Given the description of an element on the screen output the (x, y) to click on. 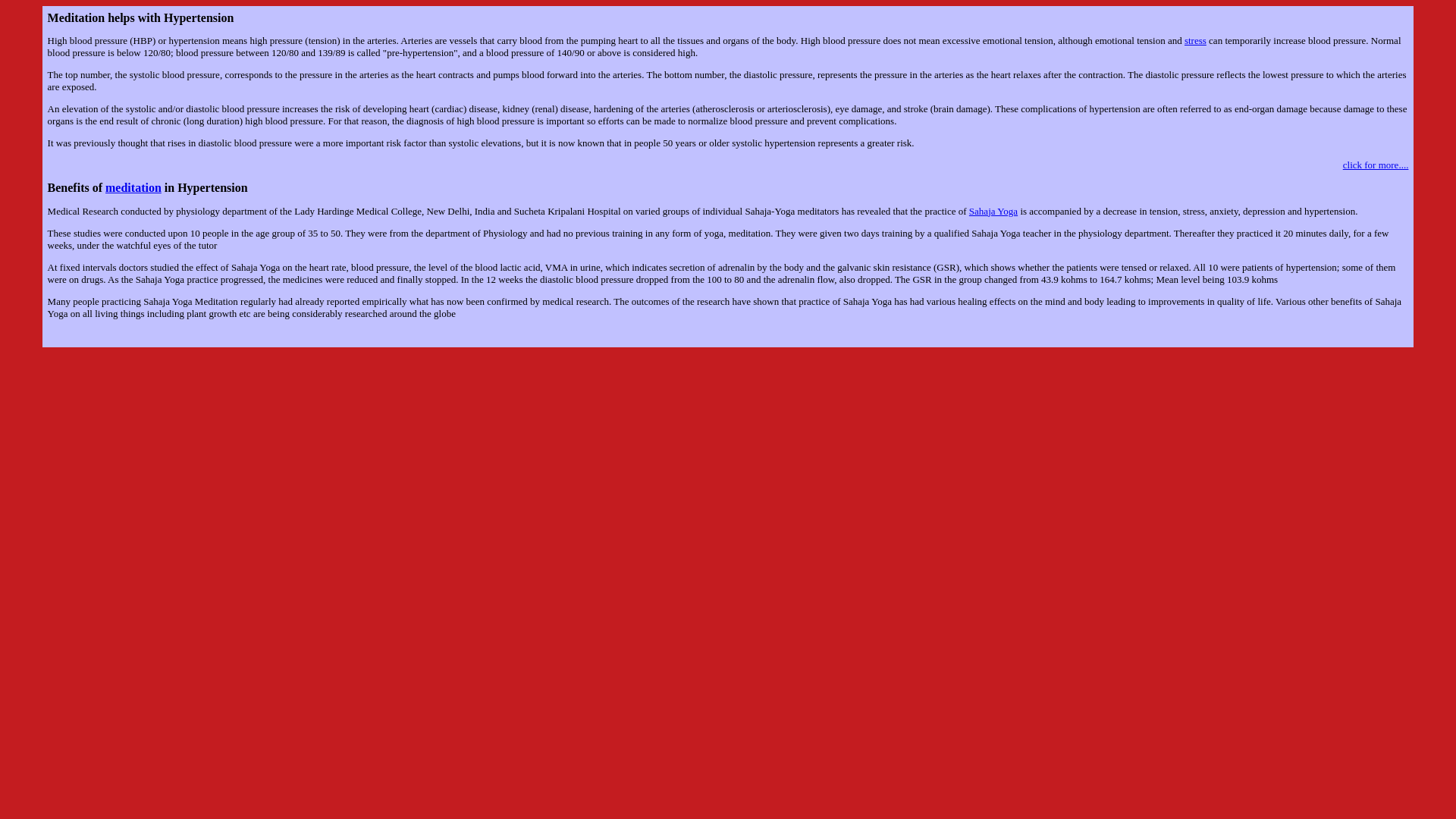
Sahaja Yoga (993, 211)
meditation (132, 187)
stress (1196, 40)
stress (1196, 40)
click for more.... (1375, 164)
meditation (132, 187)
Sahaja Yoga (993, 211)
